Given the description of an element on the screen output the (x, y) to click on. 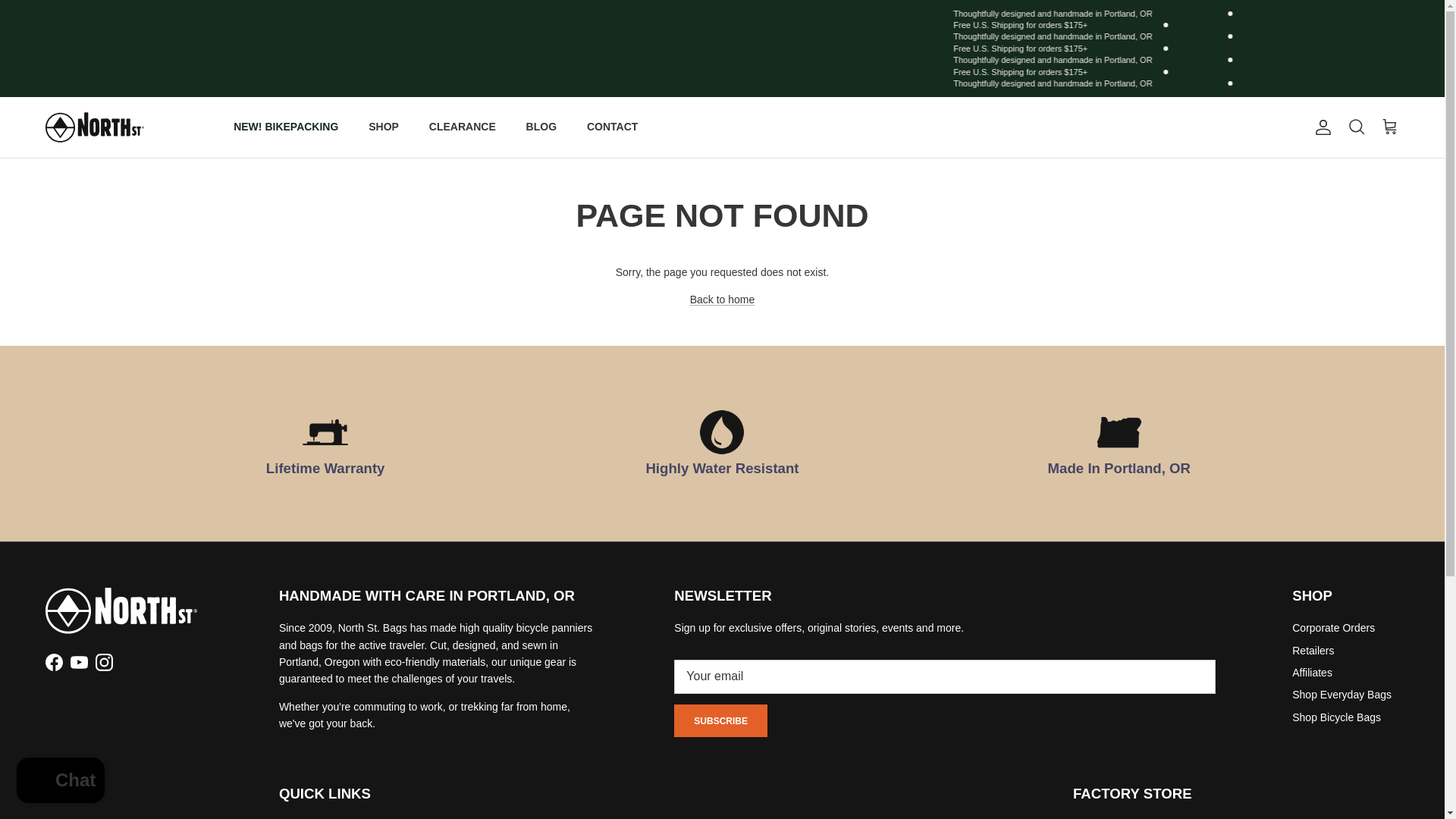
Shopify online store chat (60, 781)
SHOP (383, 126)
Cart (1389, 127)
NEW! BIKEPACKING (285, 126)
CLEARANCE (461, 126)
Account (1319, 126)
North St. Bags (94, 127)
Search (1356, 127)
North St. Bags on YouTube (78, 661)
North St. Bags on Facebook (53, 661)
